Given the description of an element on the screen output the (x, y) to click on. 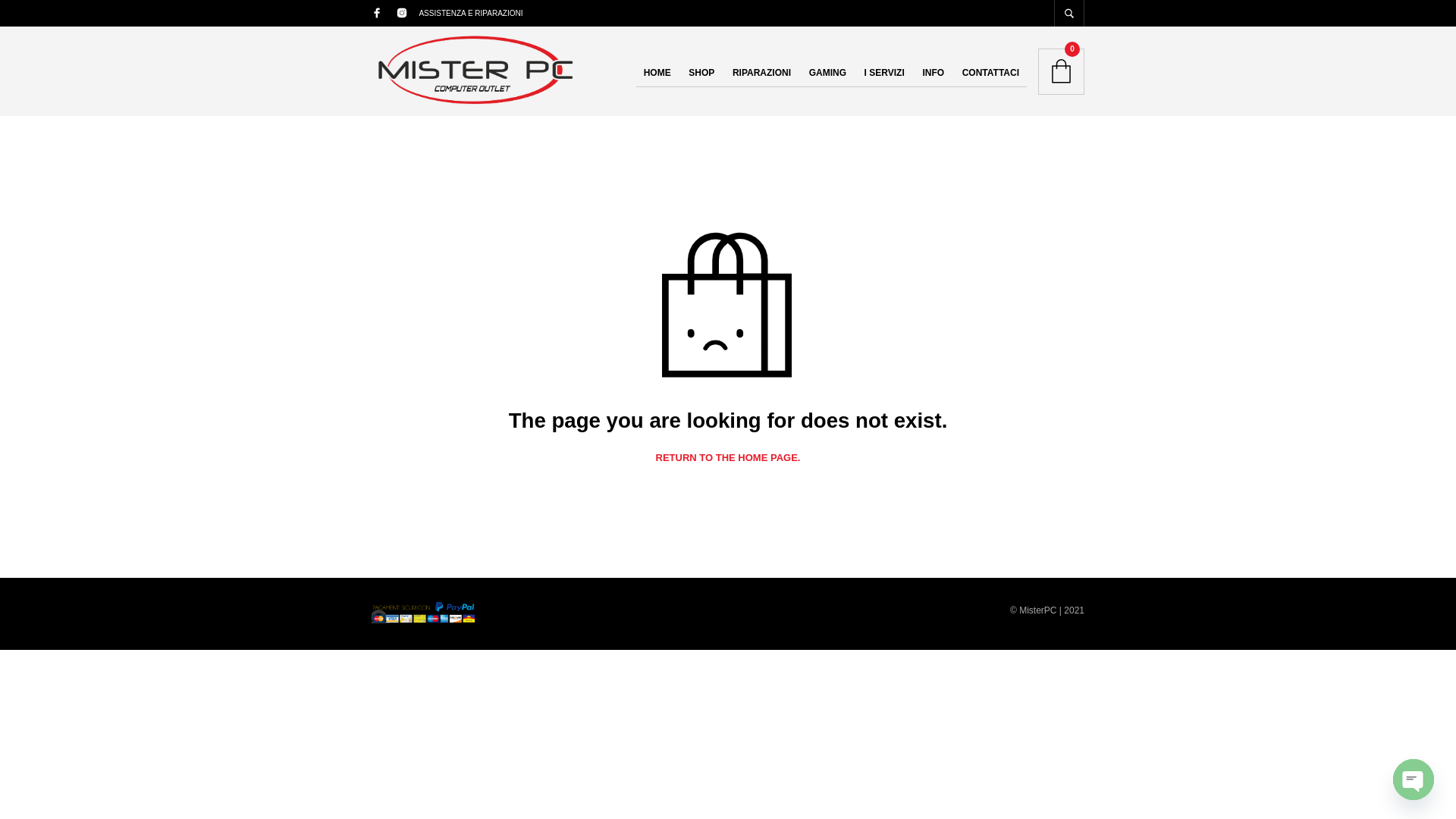
0 (1061, 71)
I SERVIZI (884, 72)
SHOP (701, 72)
GAMING (827, 72)
HOME (657, 72)
INFO (933, 72)
RIPARAZIONI (761, 72)
CONTATTACI (990, 72)
RETURN TO THE HOME PAGE. (727, 458)
